Given the description of an element on the screen output the (x, y) to click on. 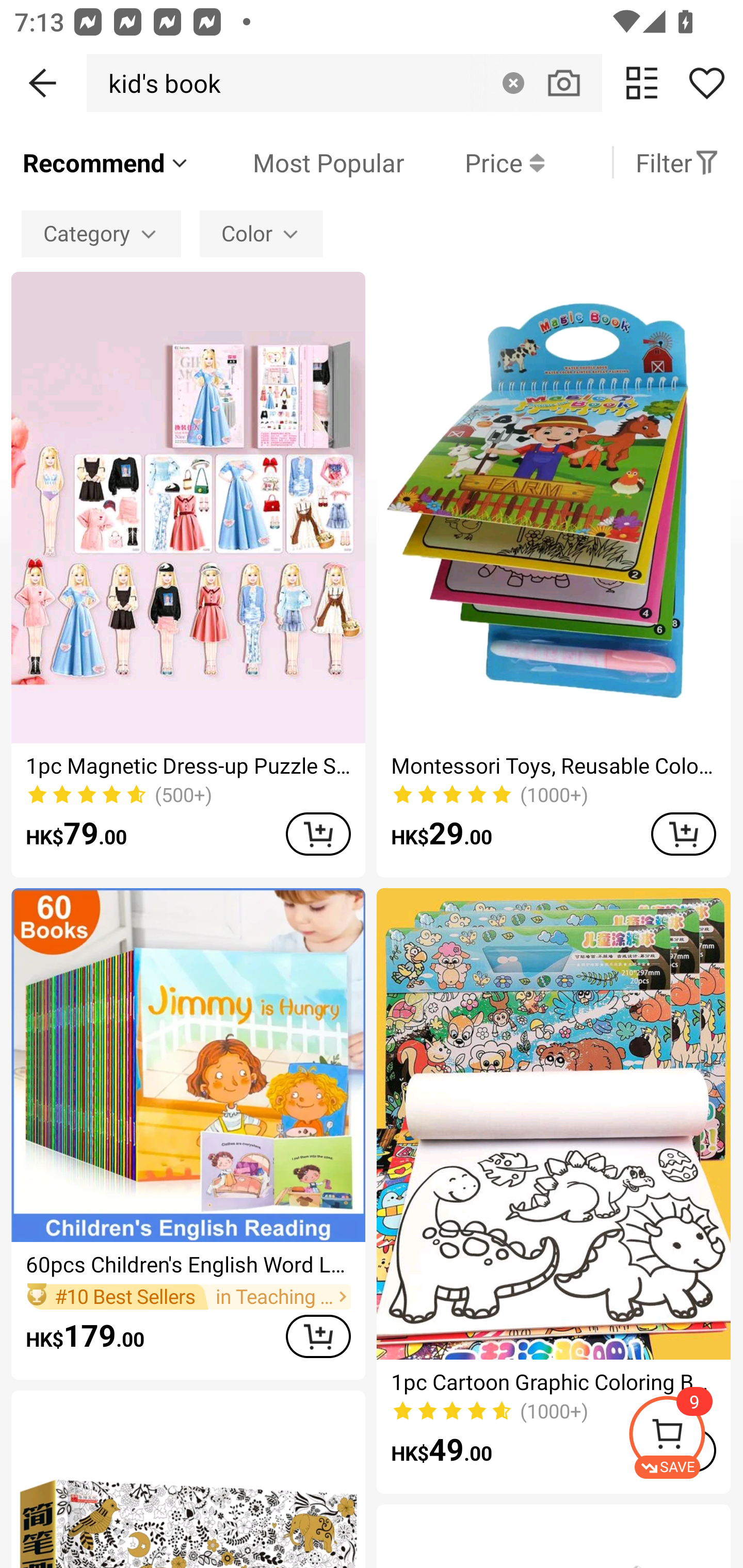
kid's book Clear (343, 82)
kid's book (158, 82)
Clear (513, 82)
change view (641, 82)
Share (706, 82)
Recommend (106, 162)
Most Popular (297, 162)
Price (474, 162)
Filter (677, 162)
Category (101, 233)
Color (261, 233)
ADD TO CART (318, 834)
ADD TO CART (683, 834)
#10 Best Sellers in Teaching Tools (188, 1296)
ADD TO CART (318, 1335)
SAVE (685, 1436)
